Given the description of an element on the screen output the (x, y) to click on. 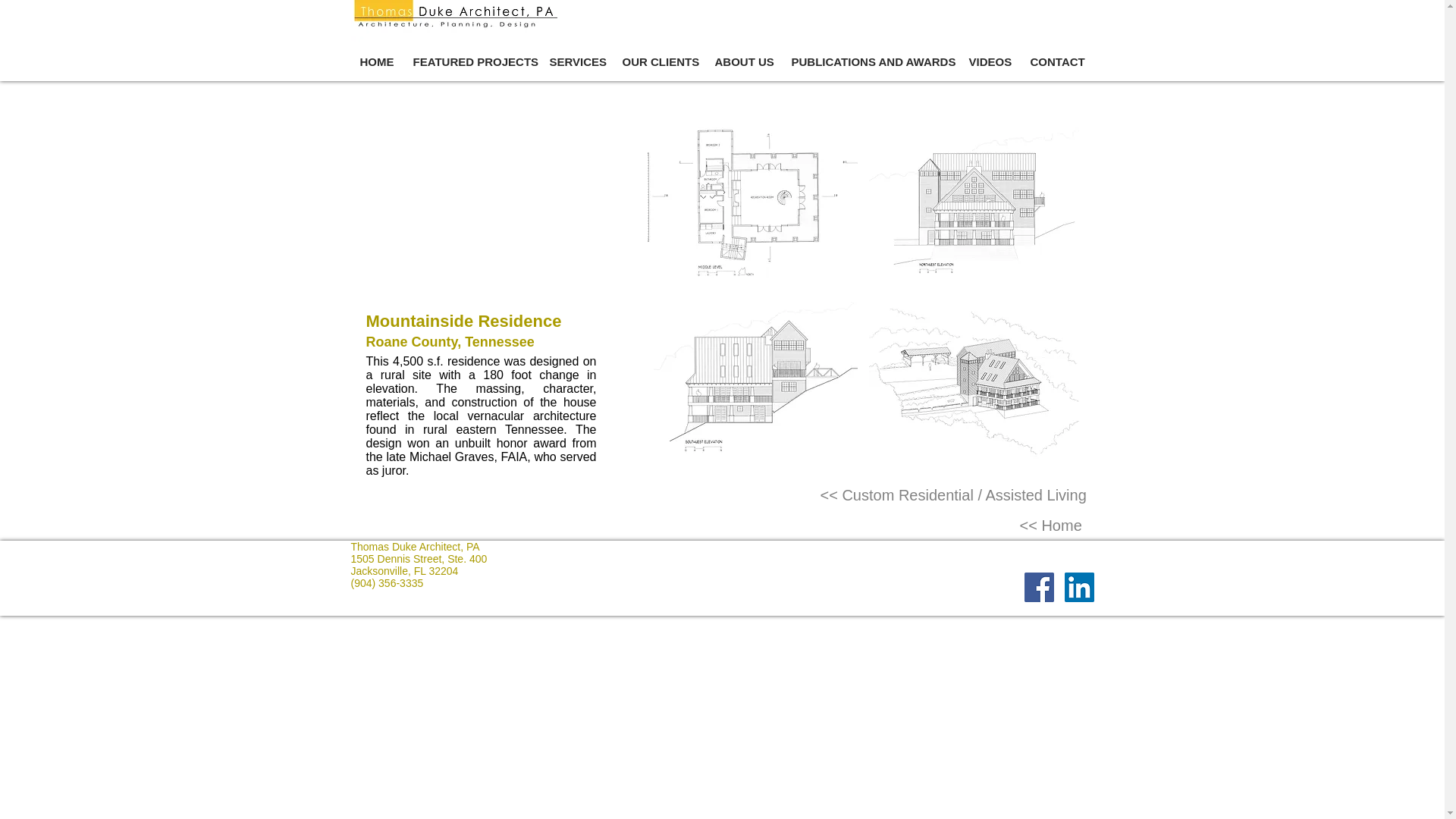
CONTACT (1056, 62)
OUR CLIENTS (658, 62)
HOME (376, 62)
VIDEOS (989, 62)
ABOUT US (742, 62)
FEATURED PROJECTS (470, 62)
PUBLICATIONS AND AWARDS (871, 62)
SERVICES (575, 62)
